Given the description of an element on the screen output the (x, y) to click on. 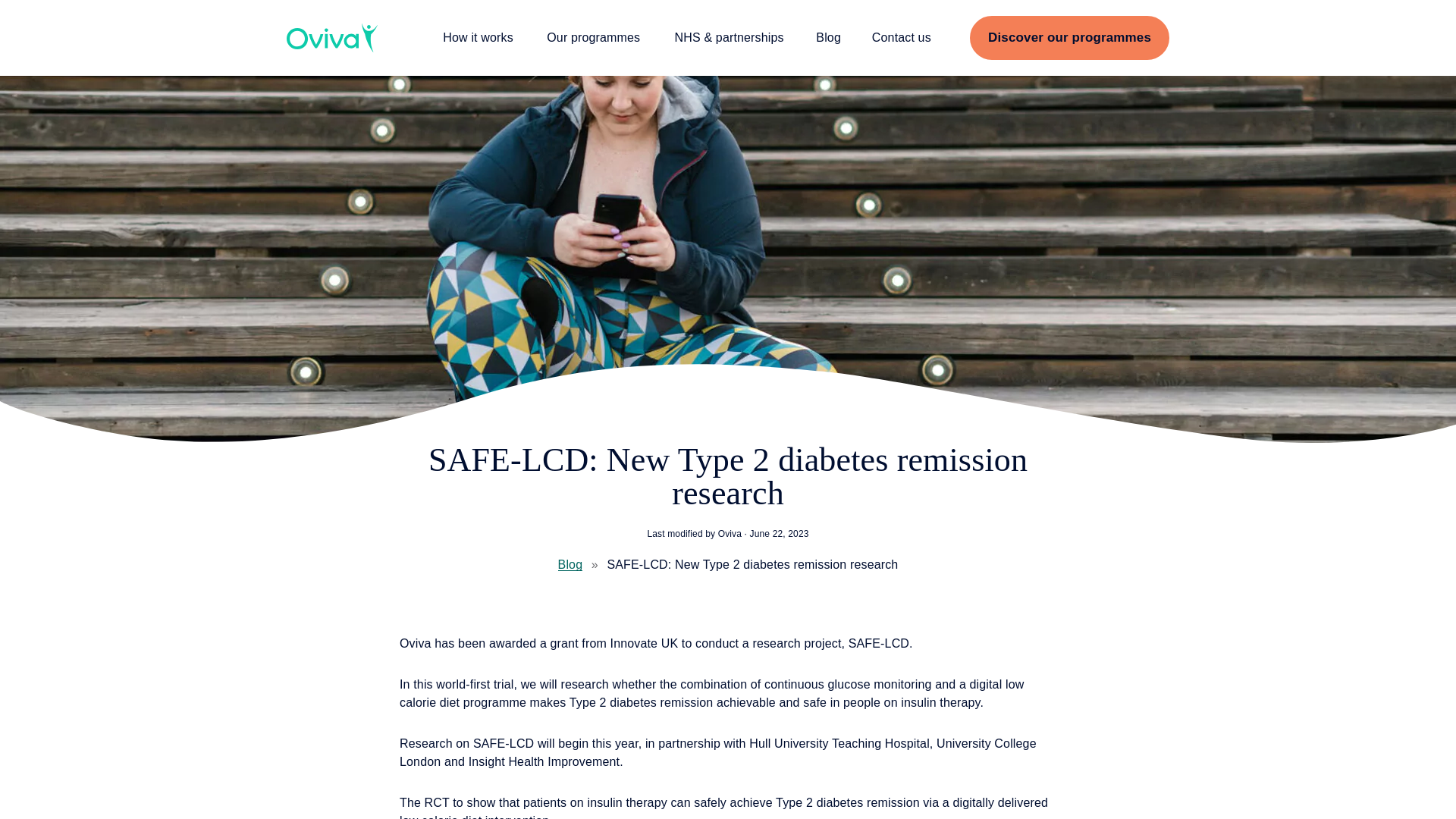
How it works (477, 37)
Contact us (901, 37)
Our programmes (593, 37)
Discover our programmes (1069, 37)
Blog (570, 563)
Blog (829, 37)
